Given the description of an element on the screen output the (x, y) to click on. 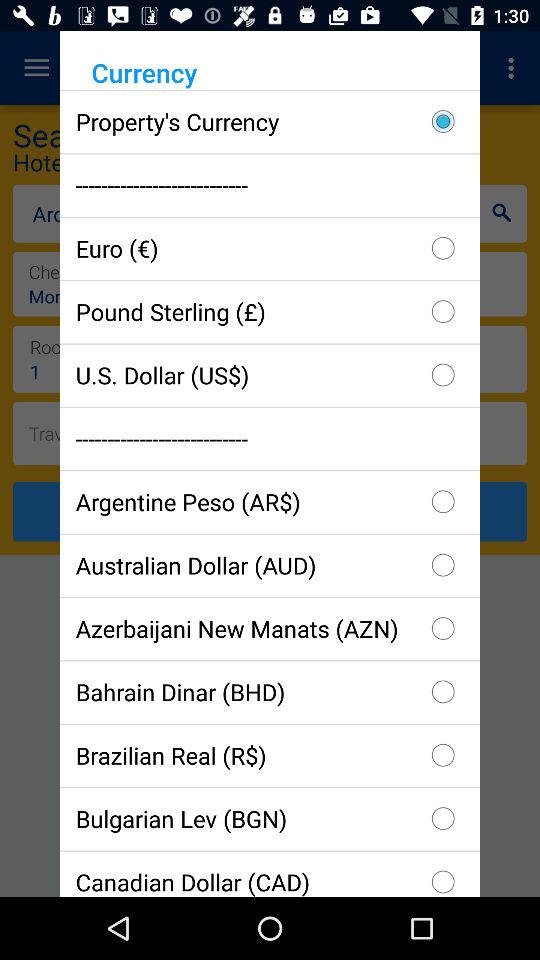
choose icon above bulgarian lev (bgn) item (270, 755)
